Given the description of an element on the screen output the (x, y) to click on. 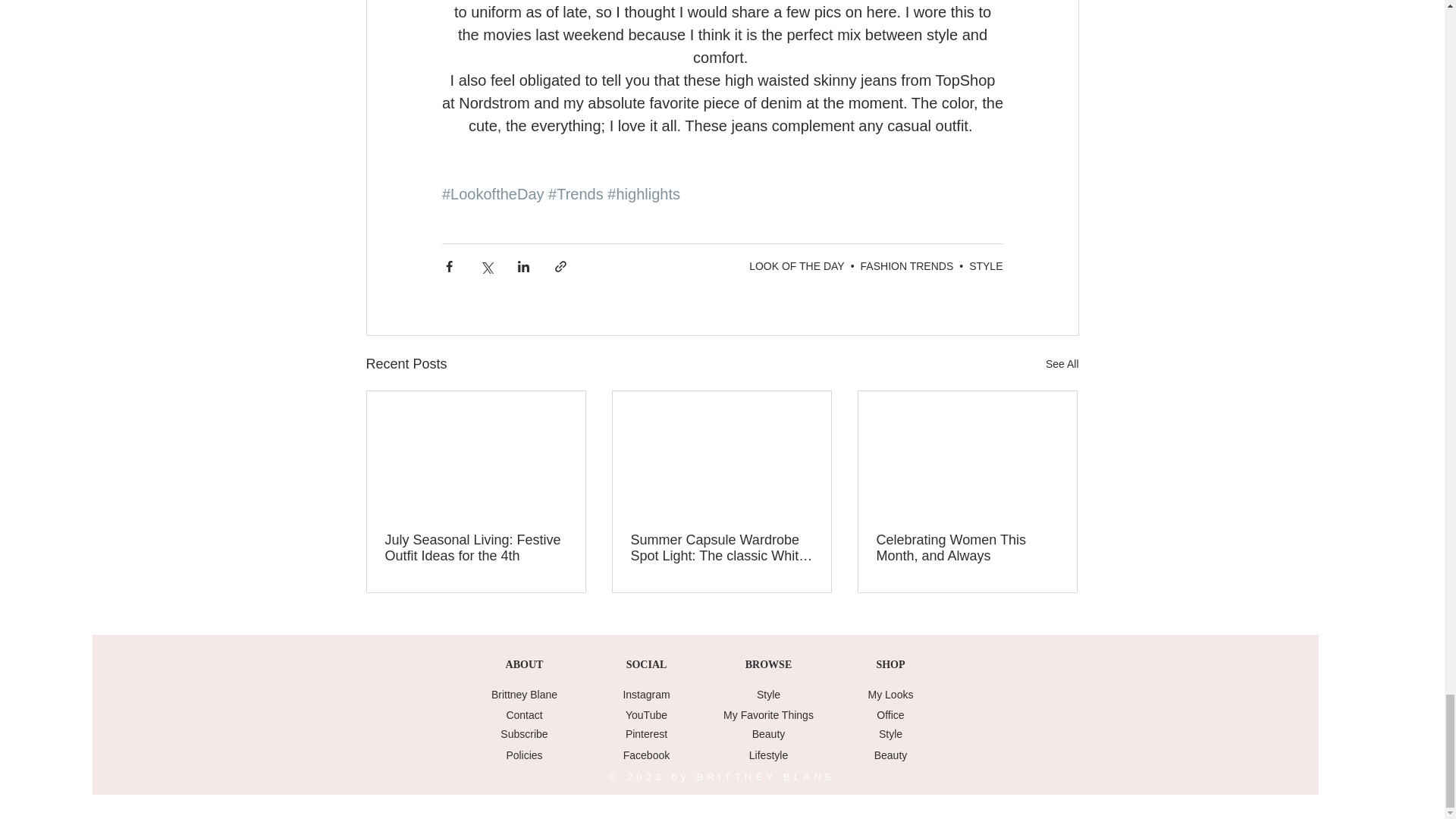
LOOK OF THE DAY (796, 265)
STYLE (986, 265)
See All (1061, 363)
FASHION TRENDS (906, 265)
July Seasonal Living: Festive Outfit Ideas for the 4th (476, 548)
